Given the description of an element on the screen output the (x, y) to click on. 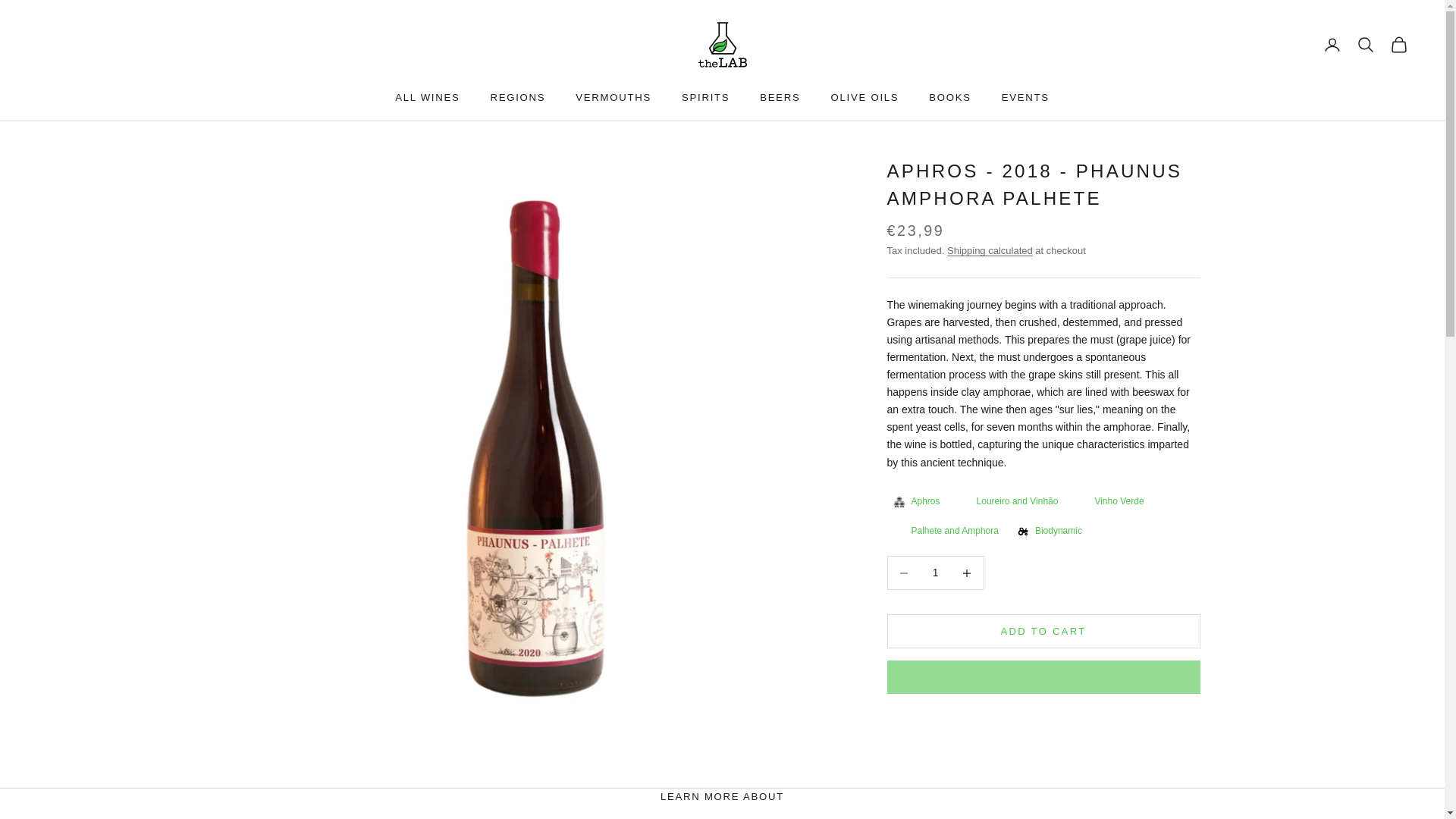
theLAB.Porto (721, 44)
1 (935, 572)
ALL WINES (427, 97)
